Given the description of an element on the screen output the (x, y) to click on. 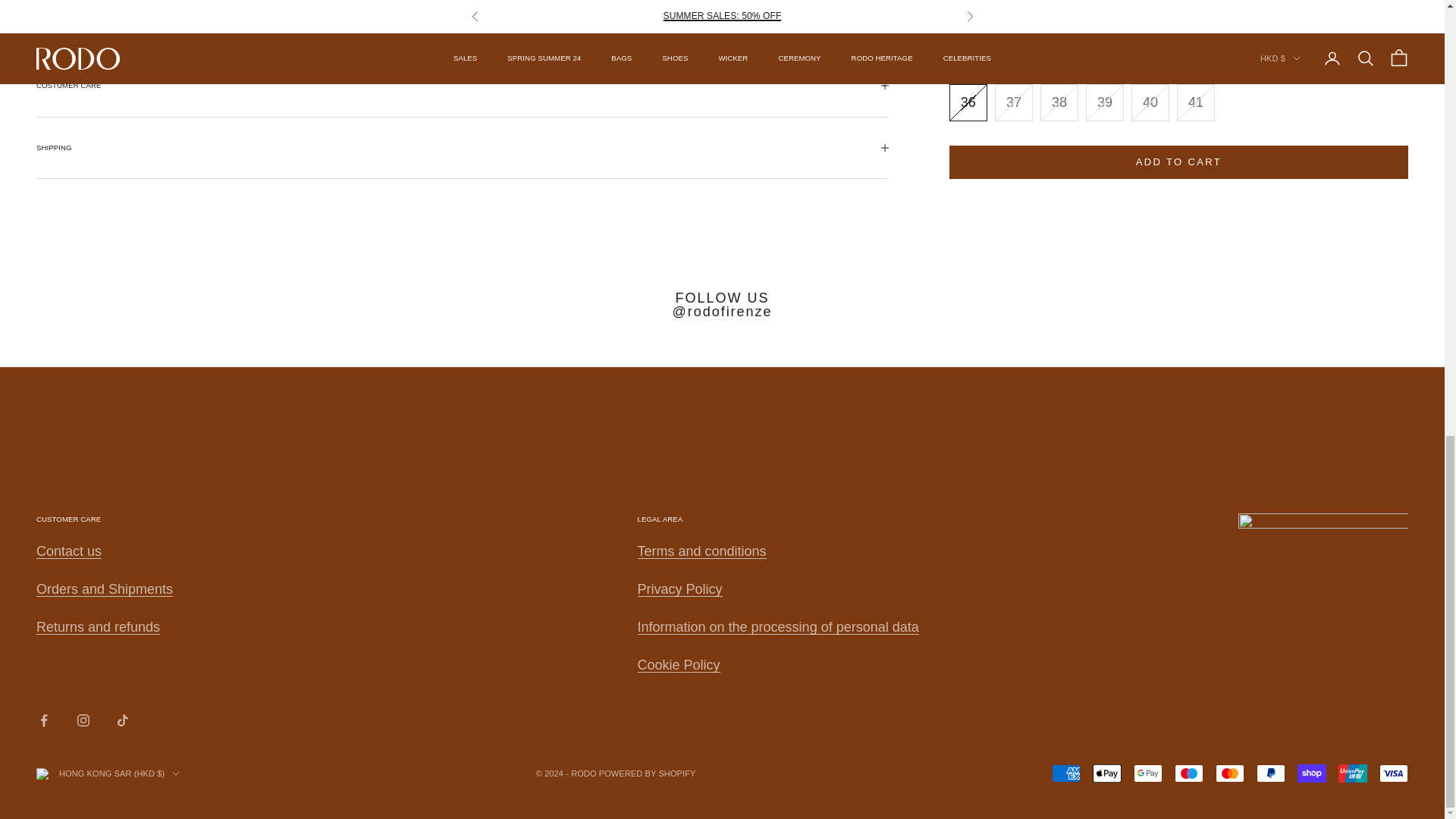
Orders and shipments (678, 664)
Returns and refunds (104, 589)
Information on the processing of personal data (98, 626)
Terms and conditions (777, 626)
Privacy policy (701, 550)
Contacts (679, 589)
